Given the description of an element on the screen output the (x, y) to click on. 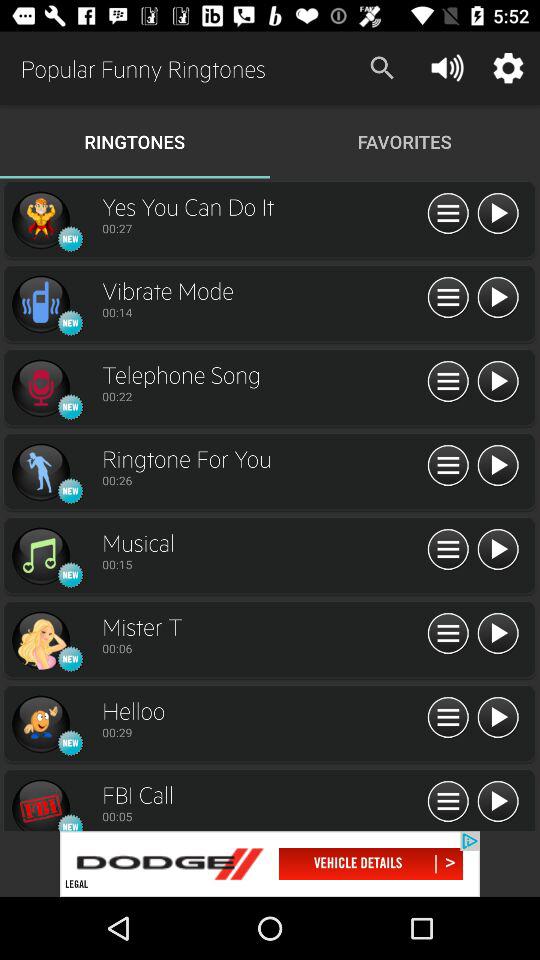
select options for mister t (447, 633)
